Given the description of an element on the screen output the (x, y) to click on. 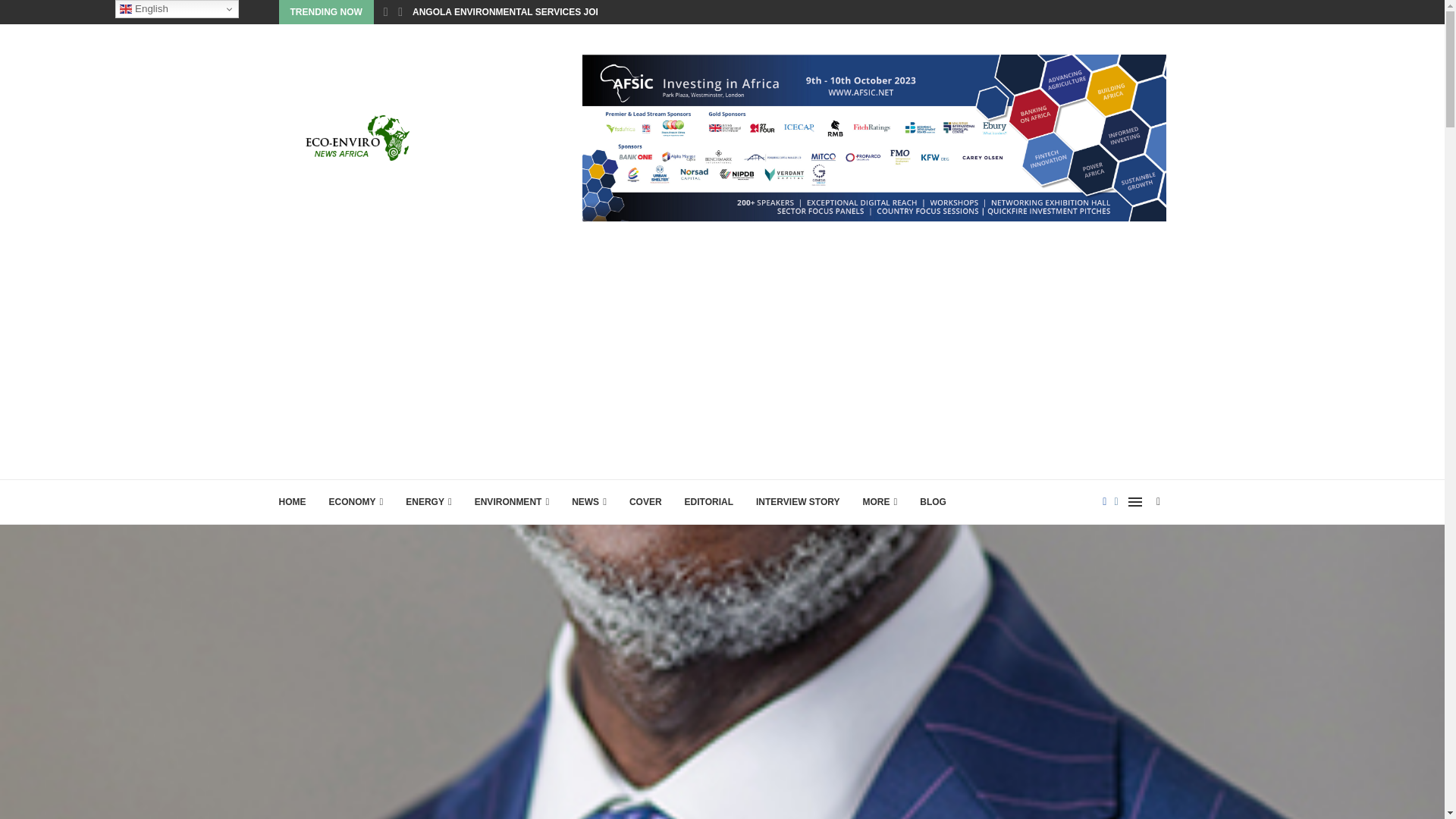
ENVIRONMENT (511, 501)
ECONOMY (356, 501)
ENERGY (428, 501)
